Given the description of an element on the screen output the (x, y) to click on. 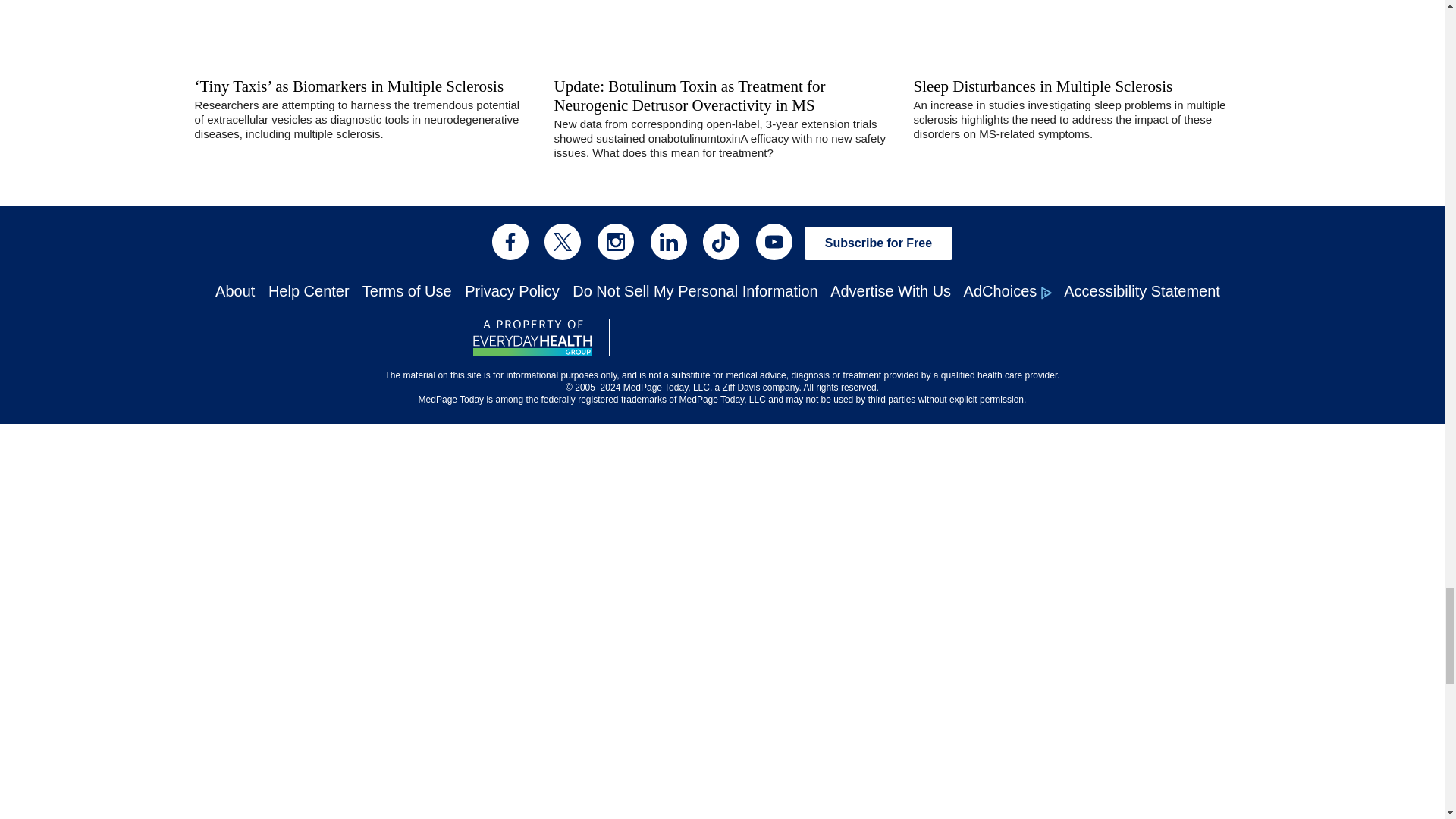
Opens in a new tab or window (803, 343)
Opens in a new tab or window (668, 338)
Visit us on LinkedIn. Opens in a new tab or window (668, 241)
Visit us on Instagram. Opens in a new tab or window (614, 241)
Visit us on X. Opens in a new tab or window (562, 241)
Opens in a new tab or window (532, 338)
Visit us on YouTube. Opens in a new tab or window (773, 241)
Visit us on Facebook. Opens in a new tab or window (510, 241)
Visit us on TikTok. Opens in a new tab or window (721, 241)
